Given the description of an element on the screen output the (x, y) to click on. 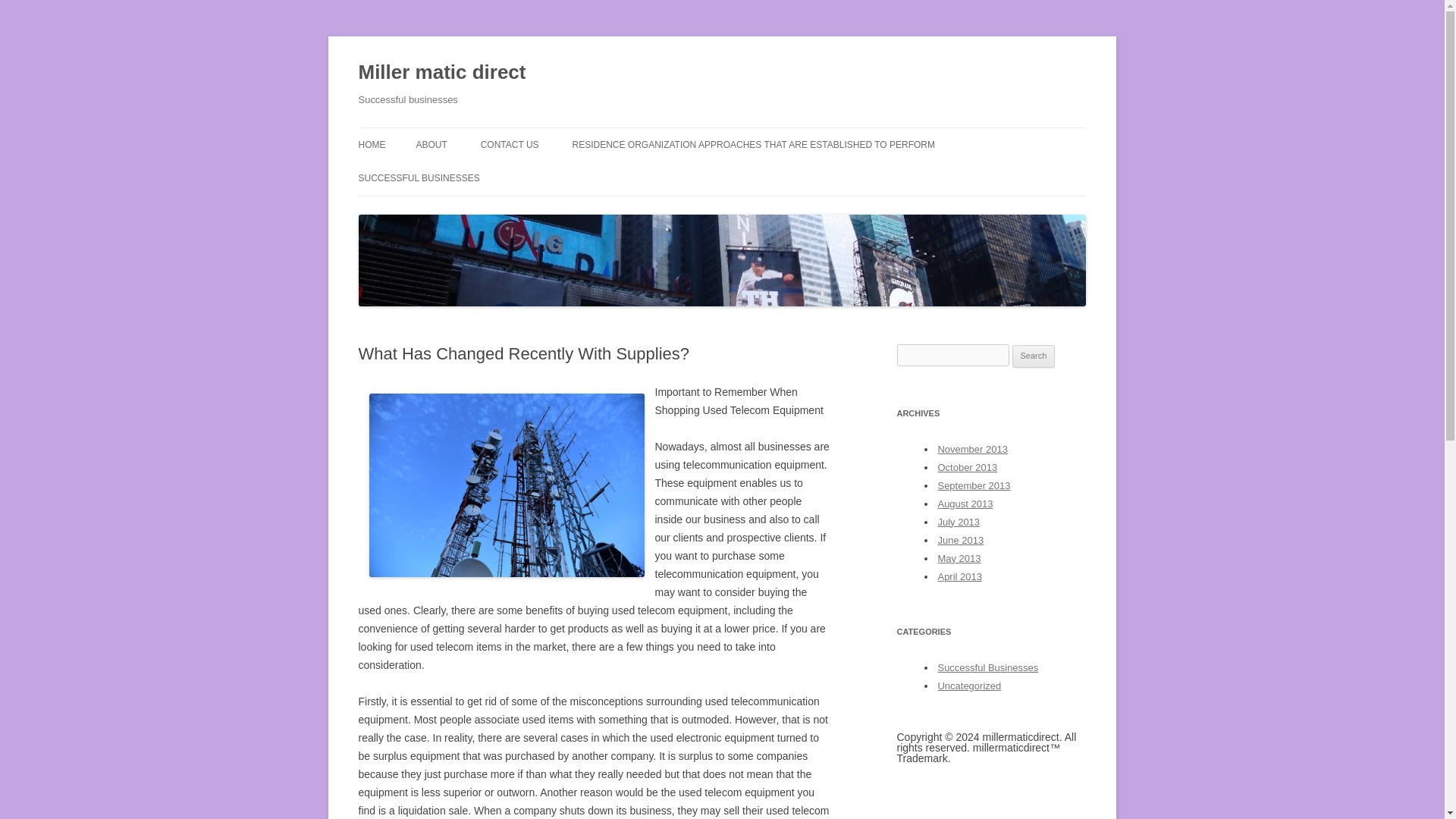
Search (1033, 355)
View all posts filed under Successful Businesses (987, 667)
View all posts filed under Uncategorized (969, 685)
June 2013 (960, 540)
April 2013 (959, 576)
May 2013 (958, 558)
CONTACT US (509, 144)
Uncategorized (969, 685)
Successful Businesses (987, 667)
October 2013 (967, 467)
